Given the description of an element on the screen output the (x, y) to click on. 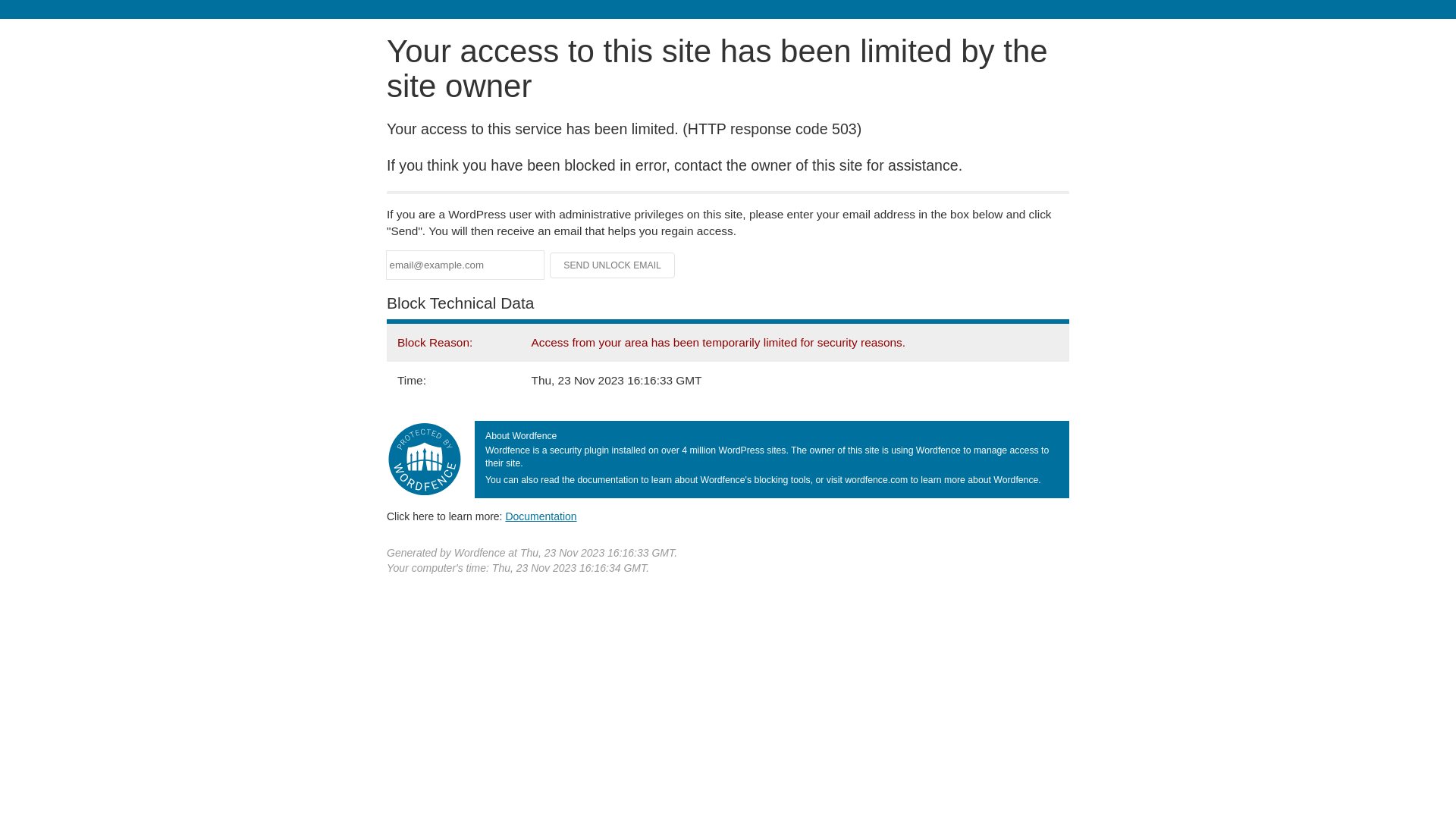
Send Unlock Email Element type: text (612, 265)
Documentation Element type: text (540, 516)
